Given the description of an element on the screen output the (x, y) to click on. 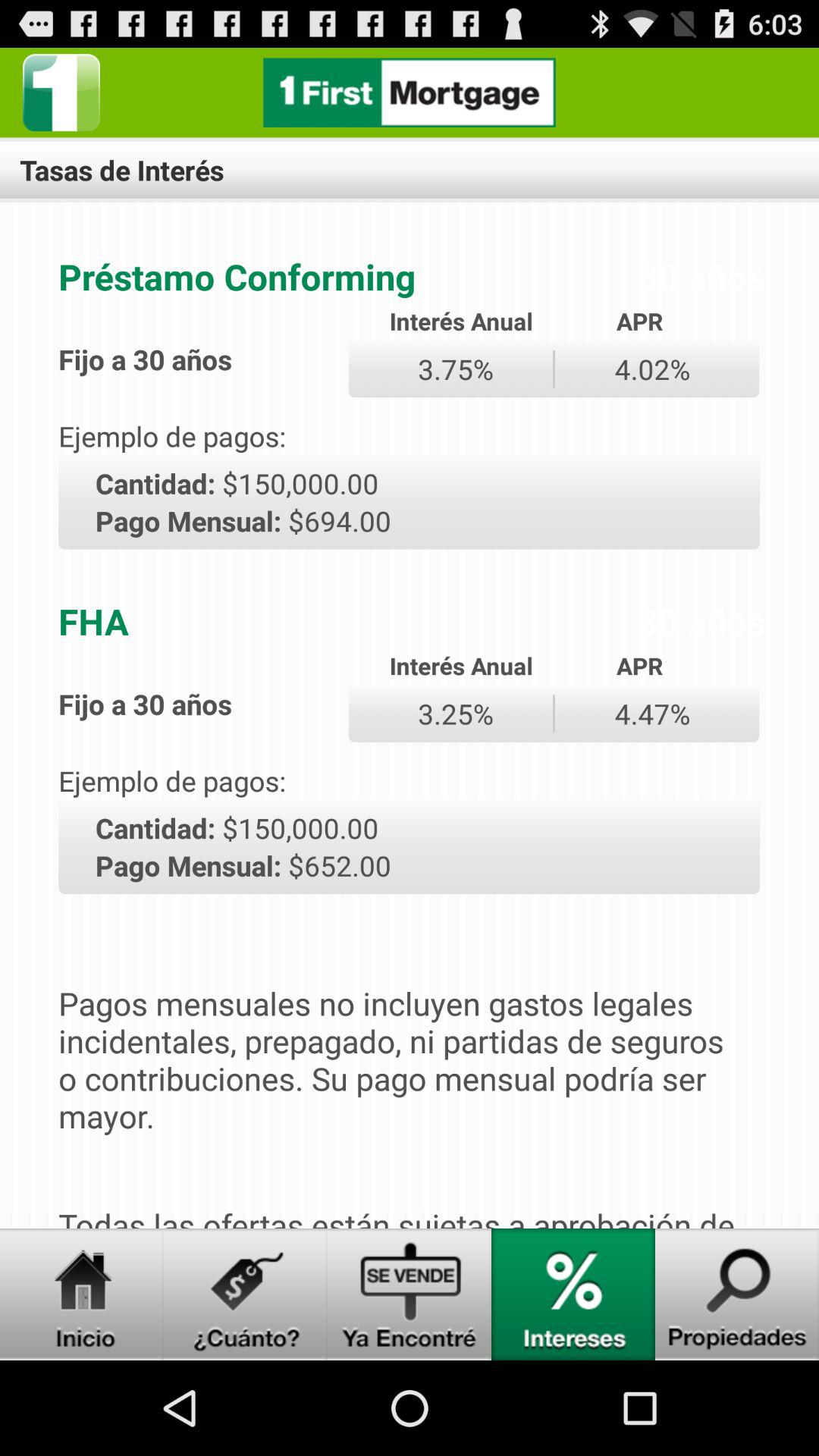
open a menu (245, 1294)
